Given the description of an element on the screen output the (x, y) to click on. 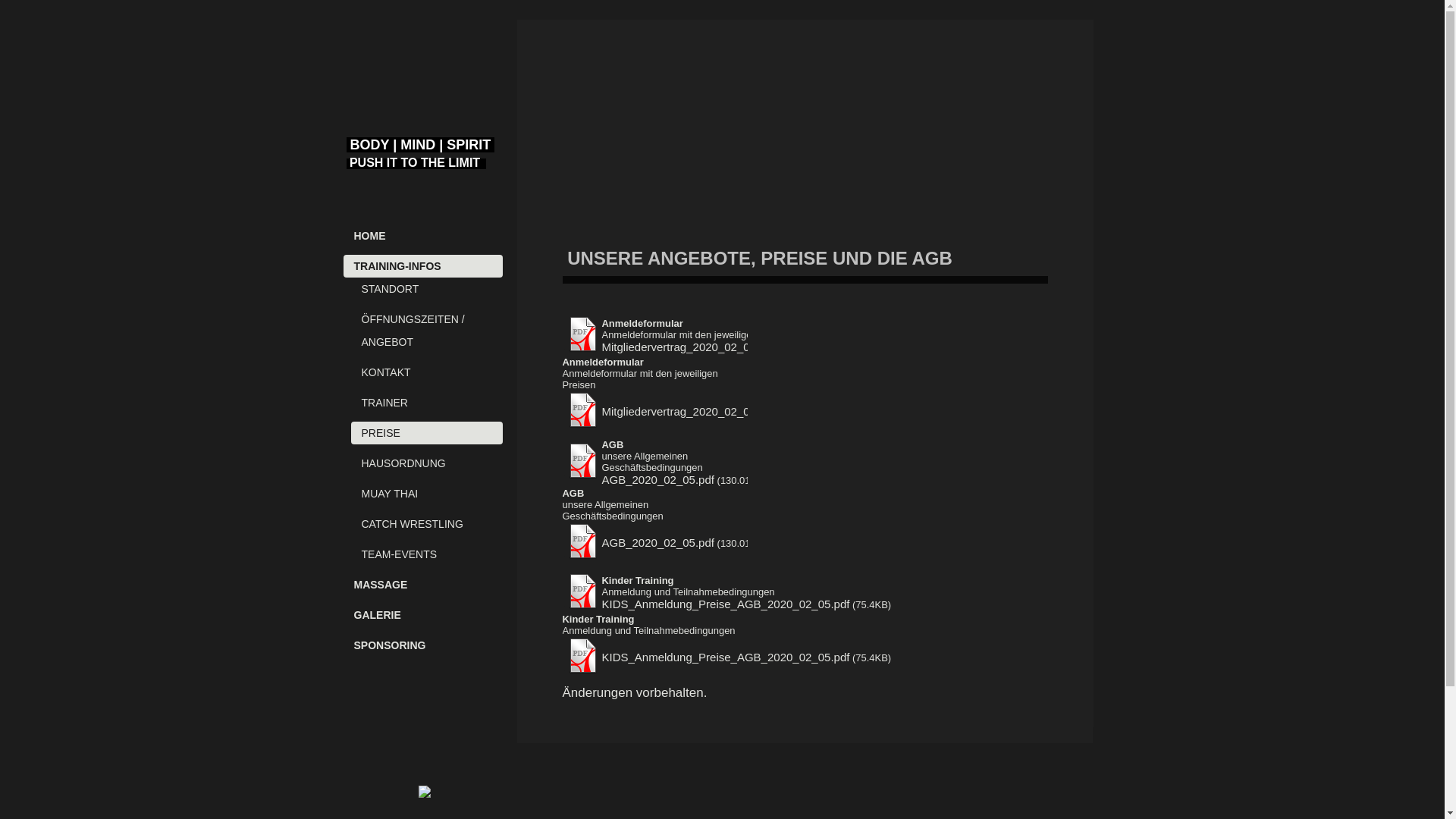
Mitgliedervertrag_2020_02_05.pdf Element type: text (688, 410)
TEAM-EVENTS Element type: text (426, 553)
AGB_2020_02_05.pdf Element type: text (658, 479)
TRAINING-INFOS Element type: text (422, 265)
HAUSORDNUNG Element type: text (426, 462)
AGB_2020_02_05.pdf Element type: text (658, 542)
CATCH WRESTLING Element type: text (426, 523)
PREISE Element type: text (426, 432)
GALERIE Element type: text (422, 614)
SPONSORING Element type: text (422, 644)
MUAY THAI Element type: text (426, 493)
KIDS_Anmeldung_Preise_AGB_2020_02_05.pdf Element type: text (726, 603)
KIDS_Anmeldung_Preise_AGB_2020_02_05.pdf Element type: text (726, 656)
HOME Element type: text (422, 235)
KONTAKT Element type: text (426, 371)
TRAINER Element type: text (426, 402)
Mitgliedervertrag_2020_02_05.pdf Element type: text (688, 346)
MASSAGE Element type: text (422, 584)
STANDORT Element type: text (426, 288)
